Given the description of an element on the screen output the (x, y) to click on. 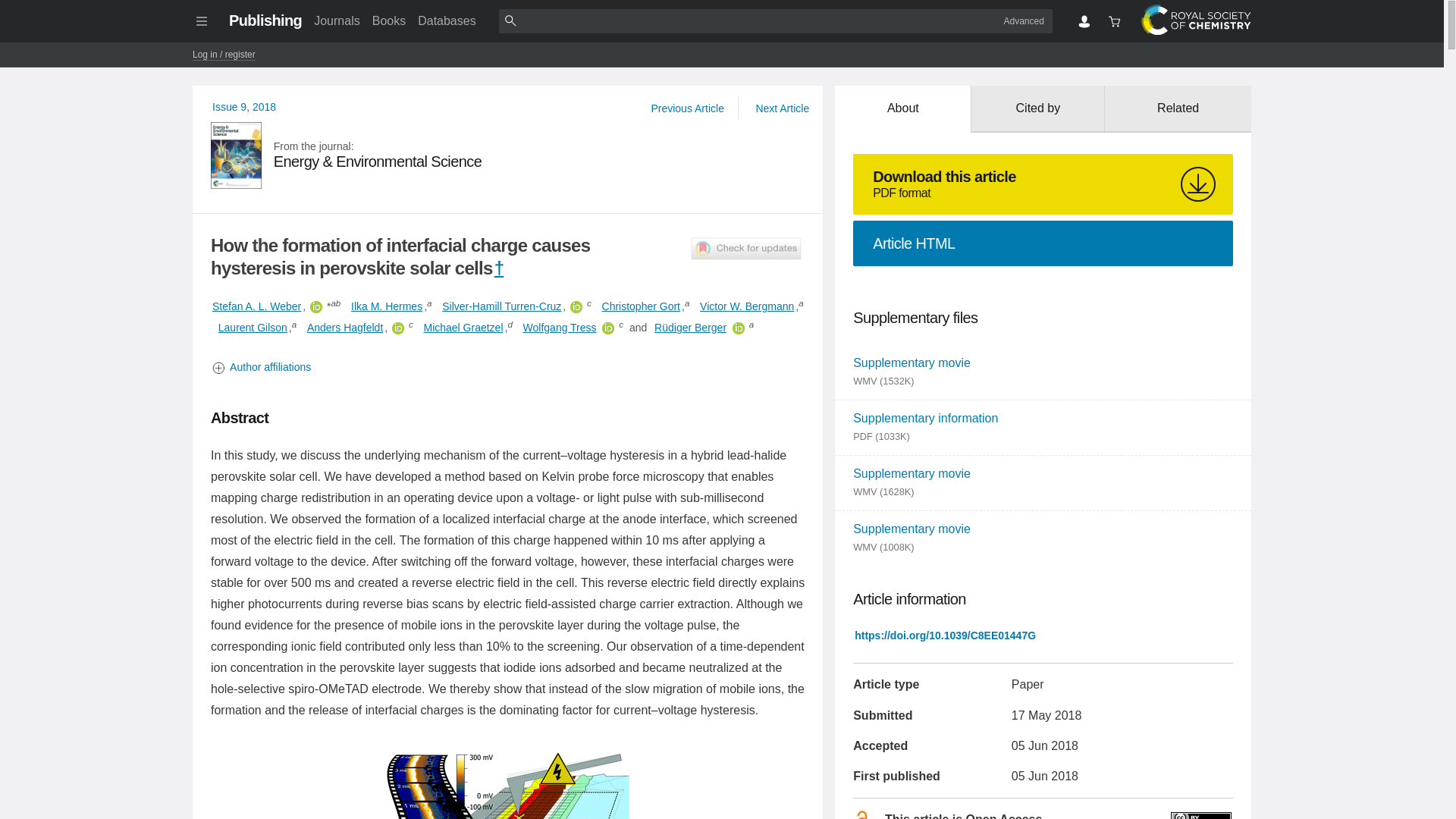
Silver-Hamill Turren-Cruz (501, 305)
Publishing (264, 20)
Author affiliations (508, 367)
Publishing home page (264, 20)
Wolfgang Tress (559, 327)
Laurent Gilson (252, 327)
Next Article (781, 107)
Christopher Gort (640, 305)
Databases (446, 20)
Books (389, 20)
Journals (336, 20)
Advanced (1023, 20)
Previous Article (687, 107)
Issue 9, 2018 (244, 106)
Issue 9, 2018 (244, 106)
